Given the description of an element on the screen output the (x, y) to click on. 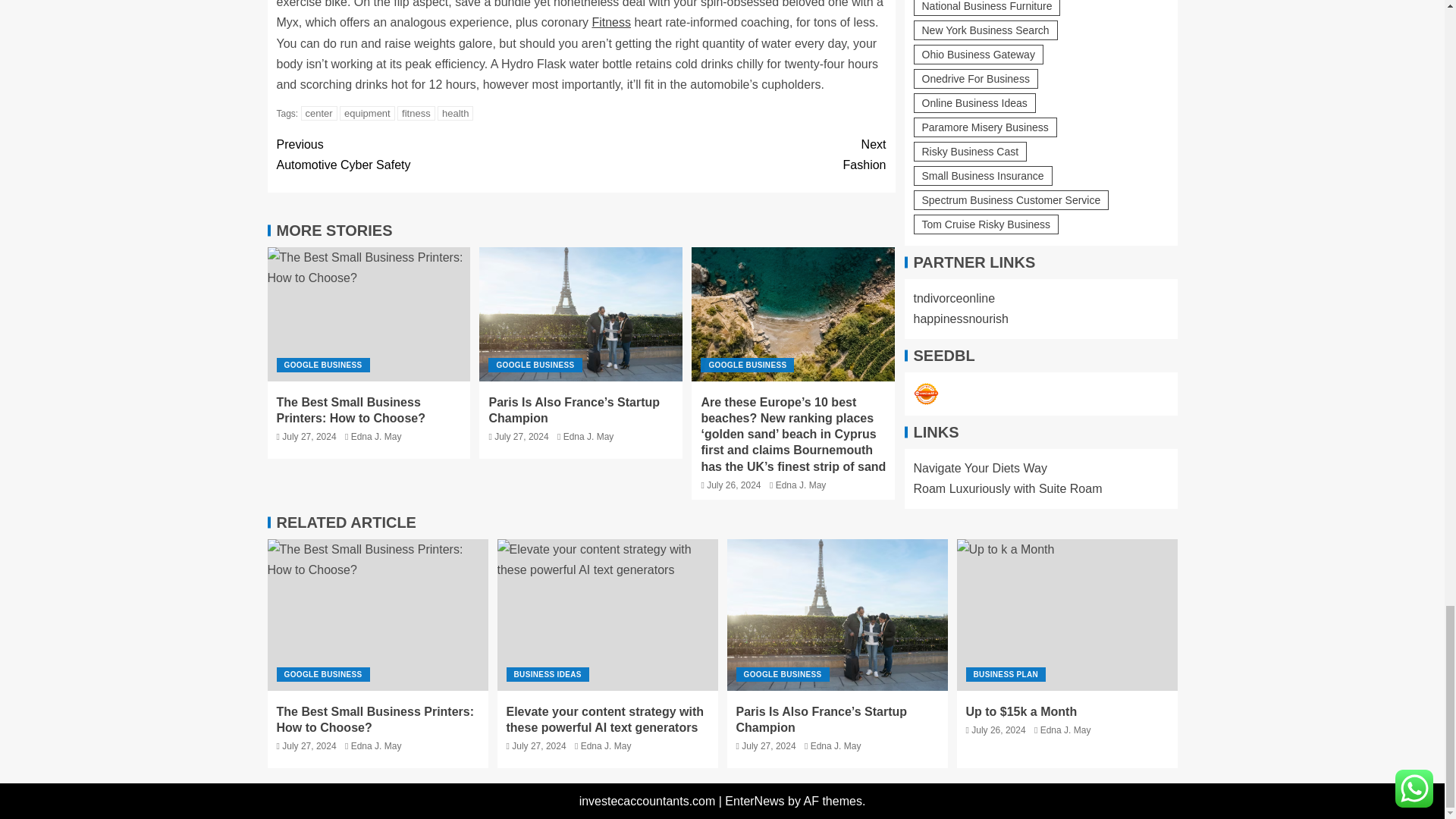
Fitness (610, 21)
equipment (366, 113)
center (319, 113)
The Best Small Business Printers: How to Choose? (368, 313)
